Given the description of an element on the screen output the (x, y) to click on. 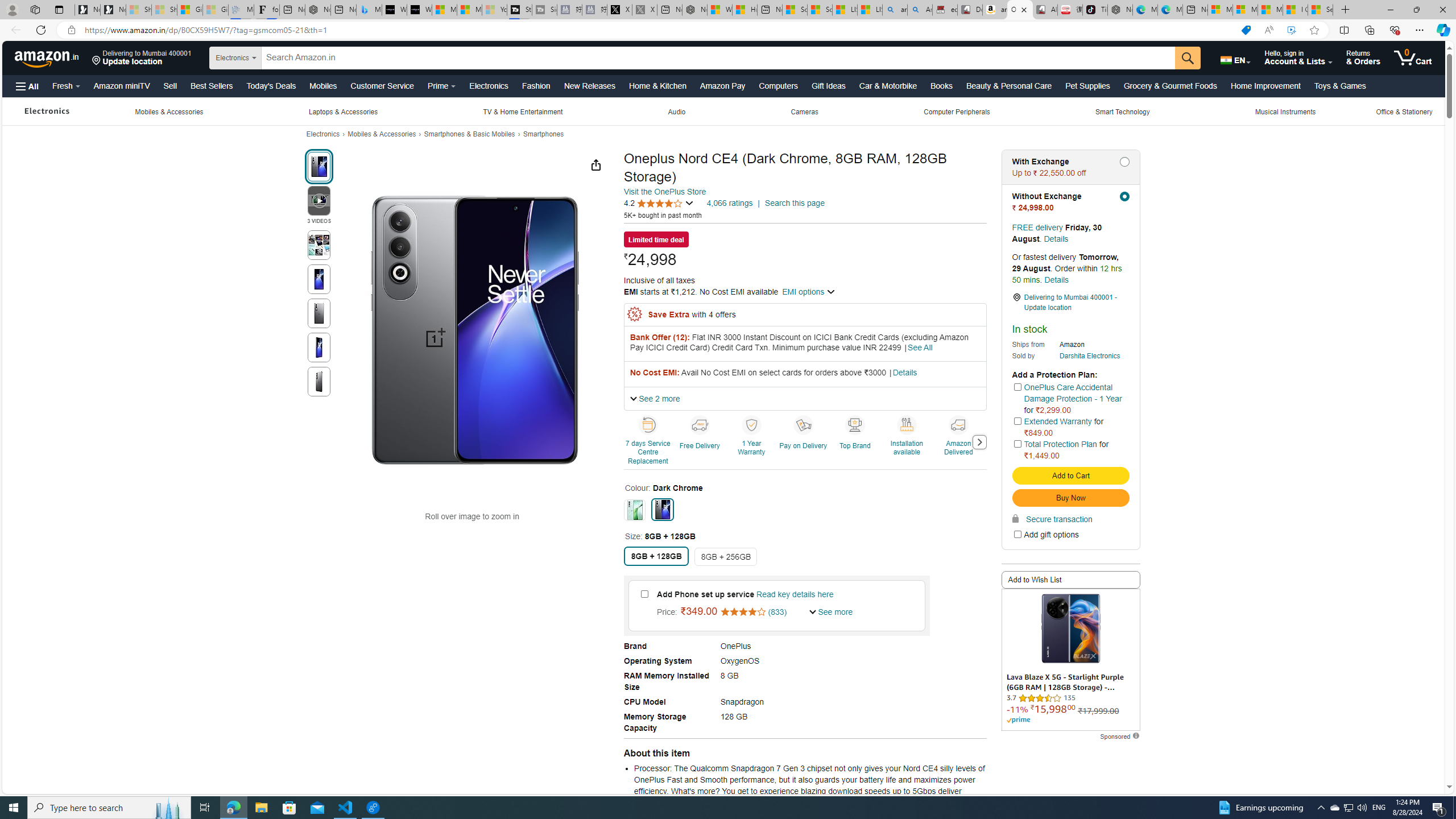
Car & Motorbike (887, 85)
Microsoft account | Privacy (1244, 9)
Amazon Delivered (957, 424)
Electronics (46, 111)
1 Year Warranty (752, 441)
Top Brand (854, 424)
Installation available (908, 441)
Streaming Coverage | T3 (519, 9)
Darshita Electronics (1089, 356)
